Given the description of an element on the screen output the (x, y) to click on. 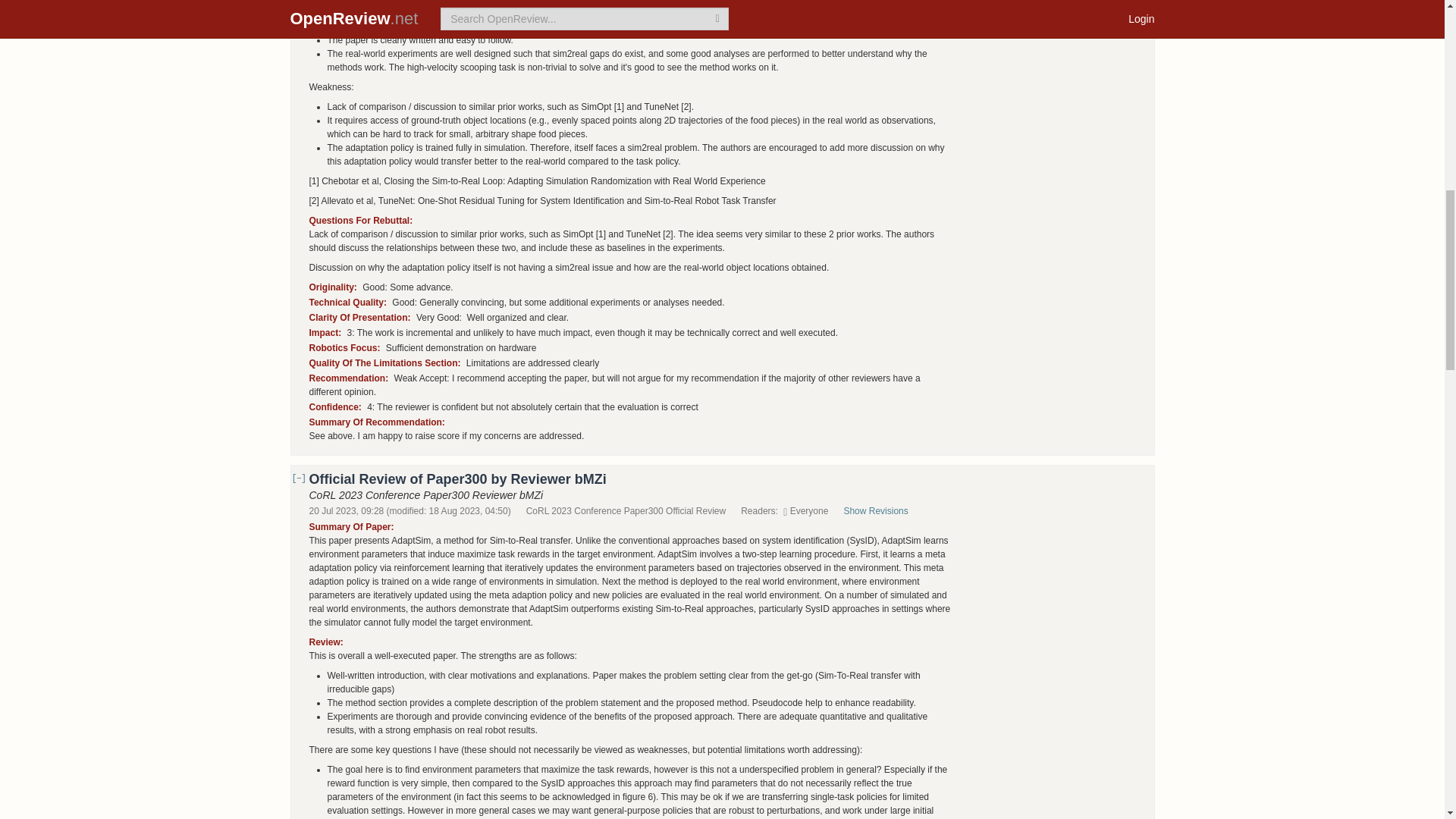
Show Revisions (883, 511)
